Given the description of an element on the screen output the (x, y) to click on. 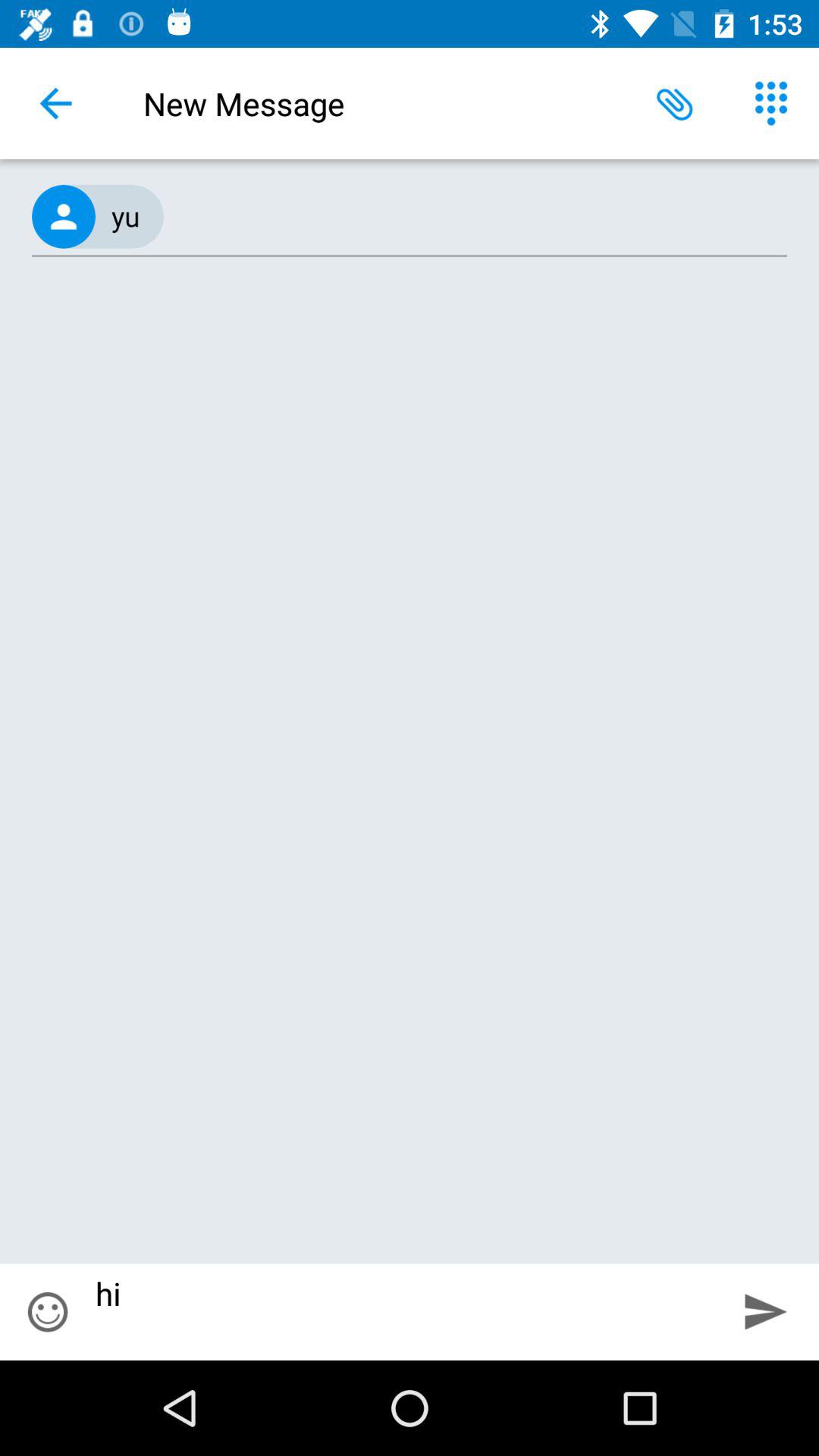
tap icon next to the hi
 icon (47, 1311)
